Given the description of an element on the screen output the (x, y) to click on. 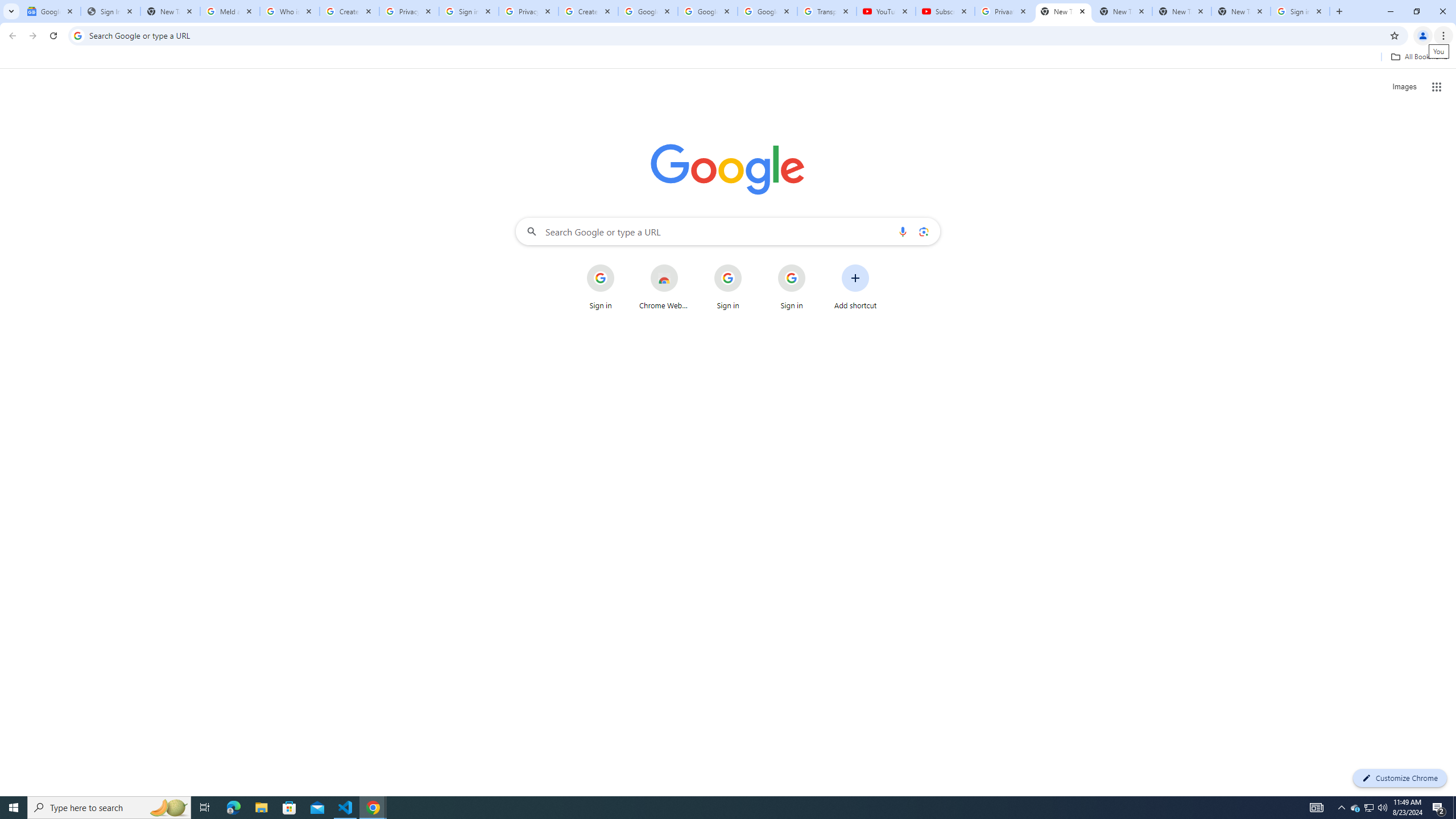
Create your Google Account (349, 11)
More actions for Chrome Web Store shortcut (686, 265)
Sign in - Google Accounts (468, 11)
